Given the description of an element on the screen output the (x, y) to click on. 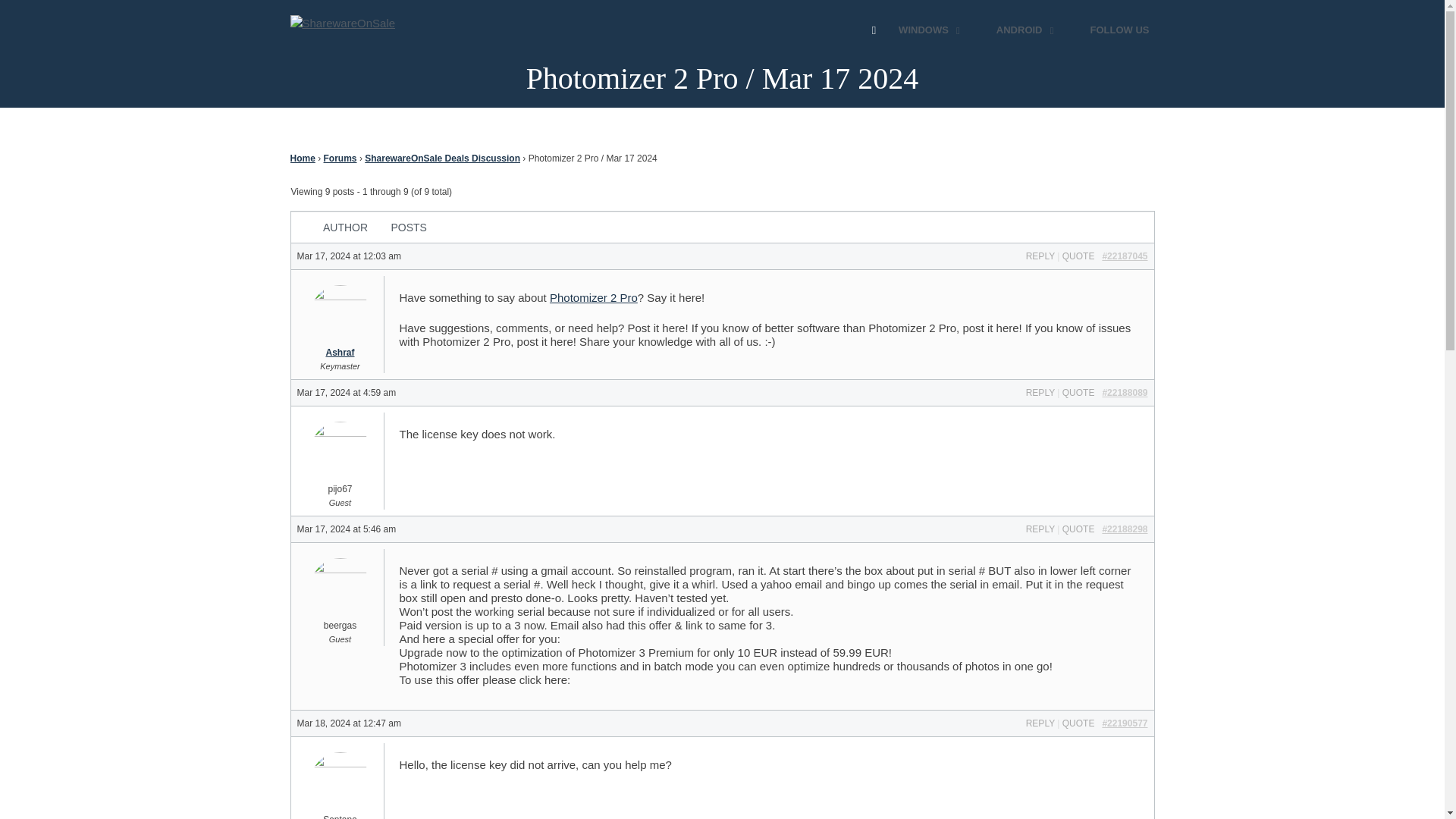
Photomizer 2 Pro (593, 297)
QUOTE (1078, 528)
SharewareOnSale (346, 30)
REPLY (1040, 255)
REPLY (1040, 391)
QUOTE (1078, 723)
QUOTE (1078, 391)
SharewareOnSale Deals Discussion (442, 158)
REPLY (1040, 723)
Forums (339, 158)
